Given the description of an element on the screen output the (x, y) to click on. 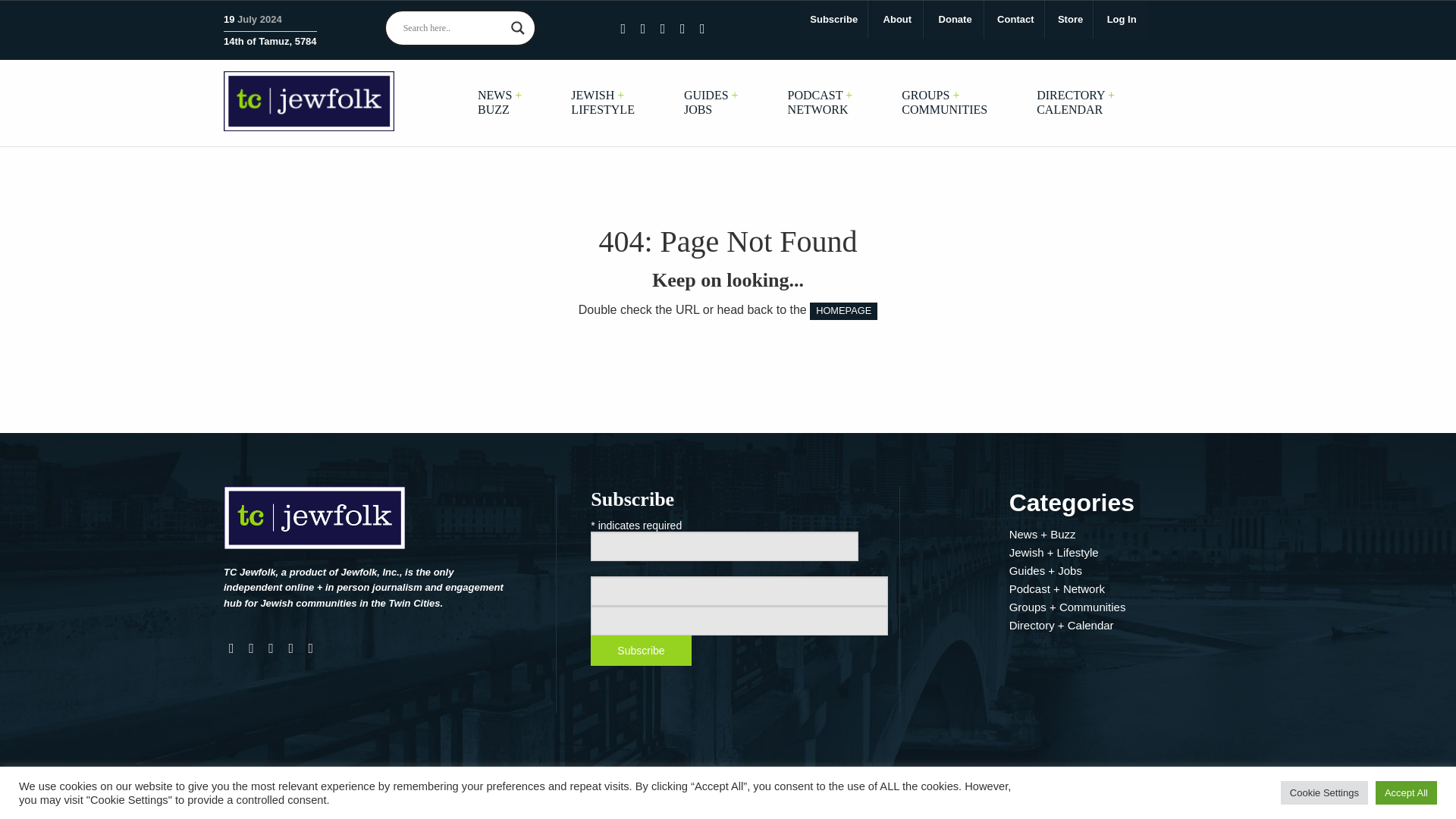
Subscribe (833, 19)
Subscribe (640, 650)
Donate (955, 19)
TC Jewfolk (315, 523)
About (897, 19)
Store (1070, 19)
TC Jewfolk (309, 100)
Log In (1122, 19)
Contact (1015, 19)
